Given the description of an element on the screen output the (x, y) to click on. 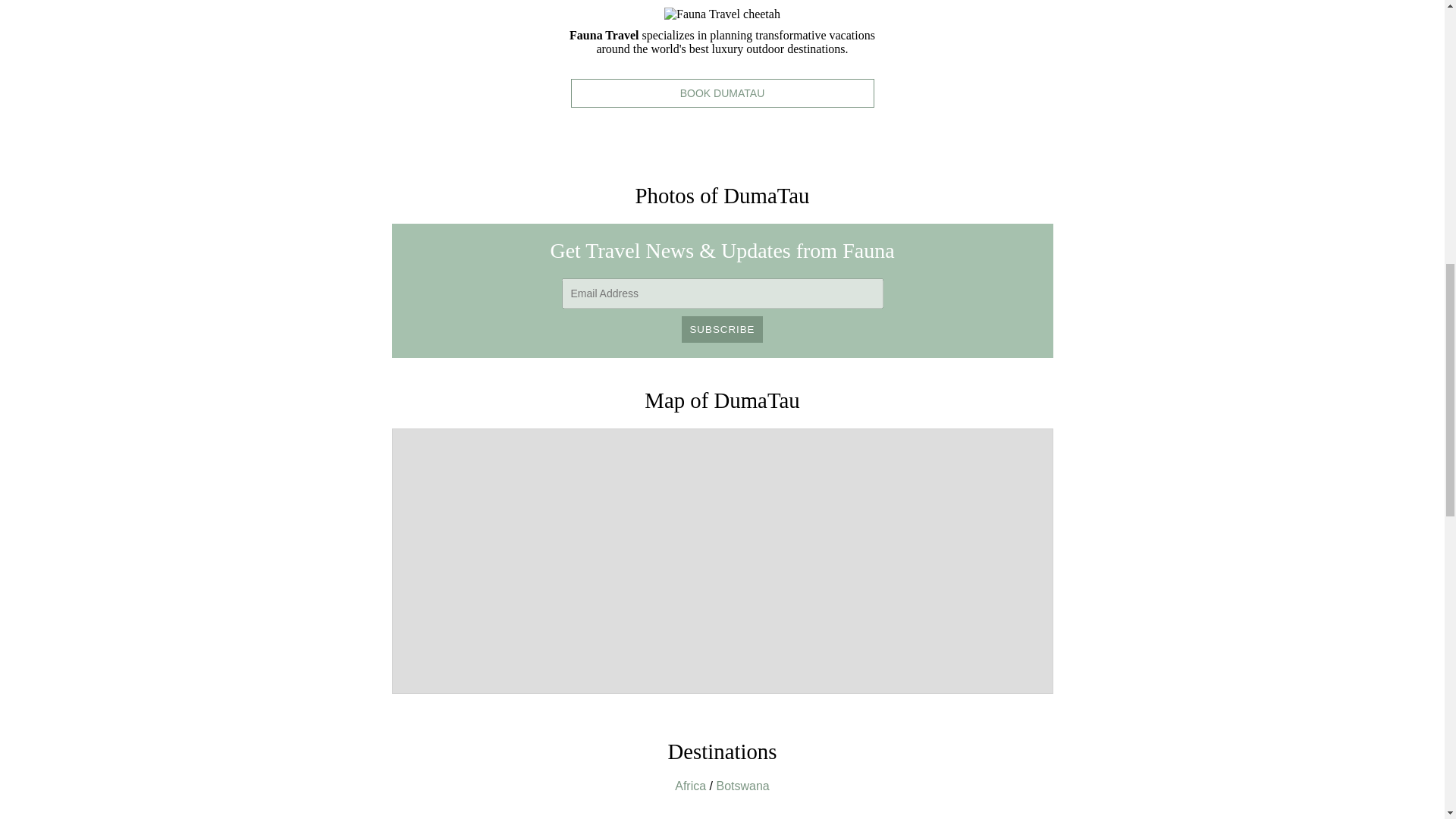
Africa (690, 785)
Subscribe (721, 329)
Subscribe (721, 329)
Botswana (742, 785)
BOOK DUMATAU (721, 92)
